Given the description of an element on the screen output the (x, y) to click on. 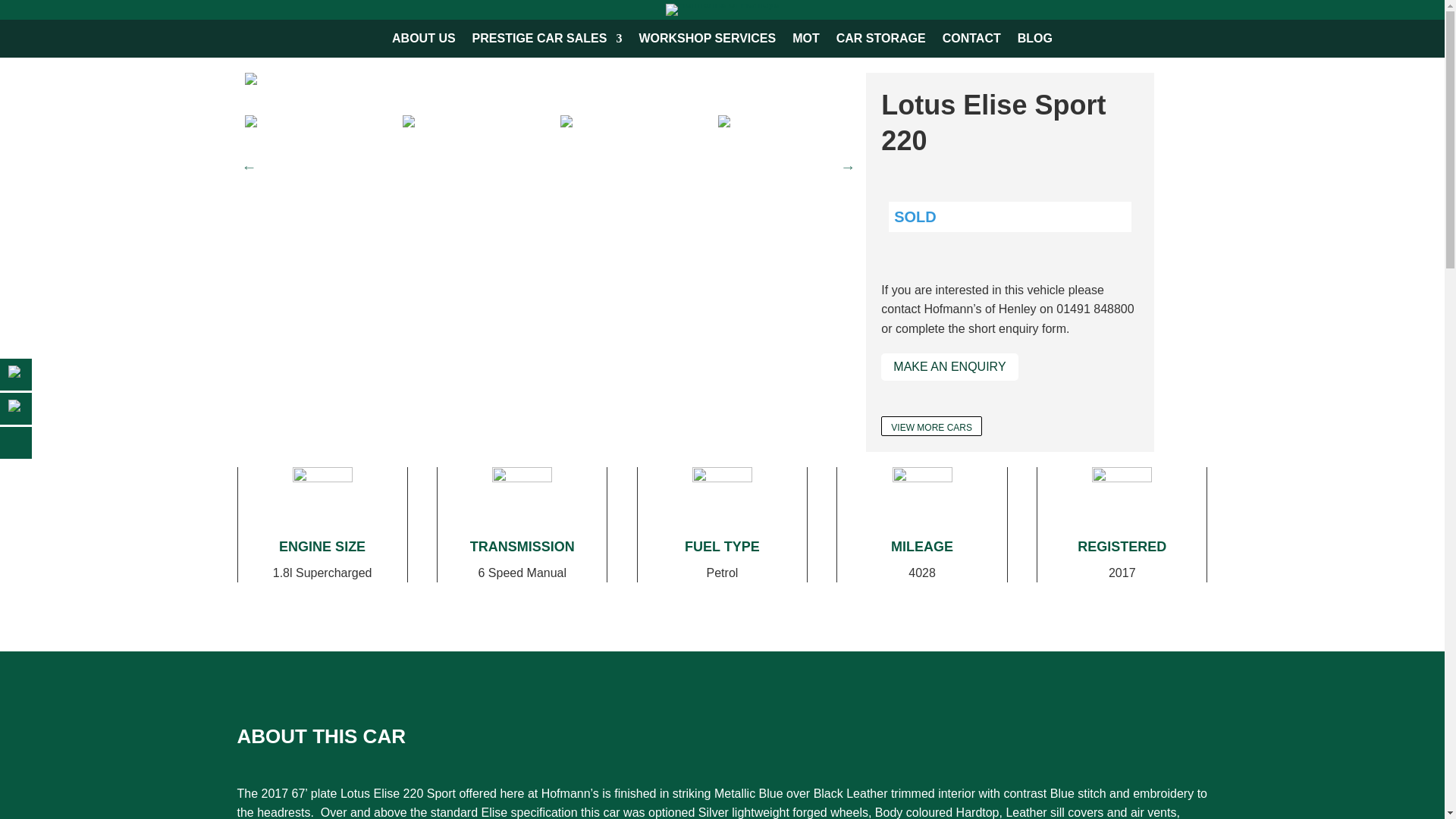
CONTACT (971, 41)
MOT (805, 41)
Hofmanns Logo WHT (721, 9)
WORKSHOP SERVICES (707, 41)
CAR STORAGE (880, 41)
BLOG (1034, 41)
PRESTIGE CAR SALES (547, 41)
ABOUT US (423, 41)
